Given the description of an element on the screen output the (x, y) to click on. 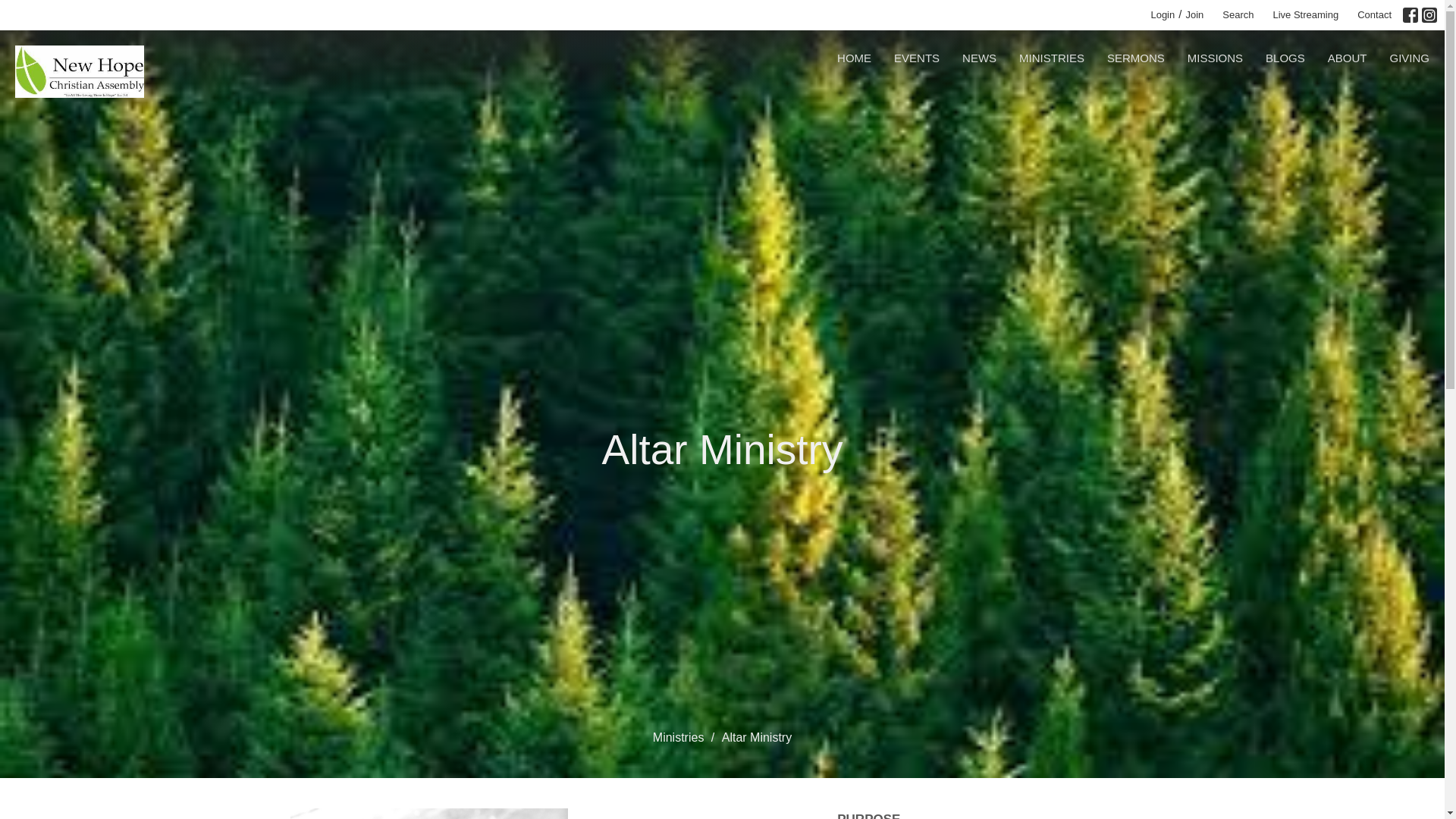
Live Streaming (1305, 15)
Join (1195, 15)
Ministries (678, 737)
NEWS (978, 57)
EVENTS (916, 57)
GIVING (1409, 57)
MISSIONS (1215, 57)
SERMONS (1135, 57)
Contact (1374, 15)
BLOGS (1284, 57)
